Given the description of an element on the screen output the (x, y) to click on. 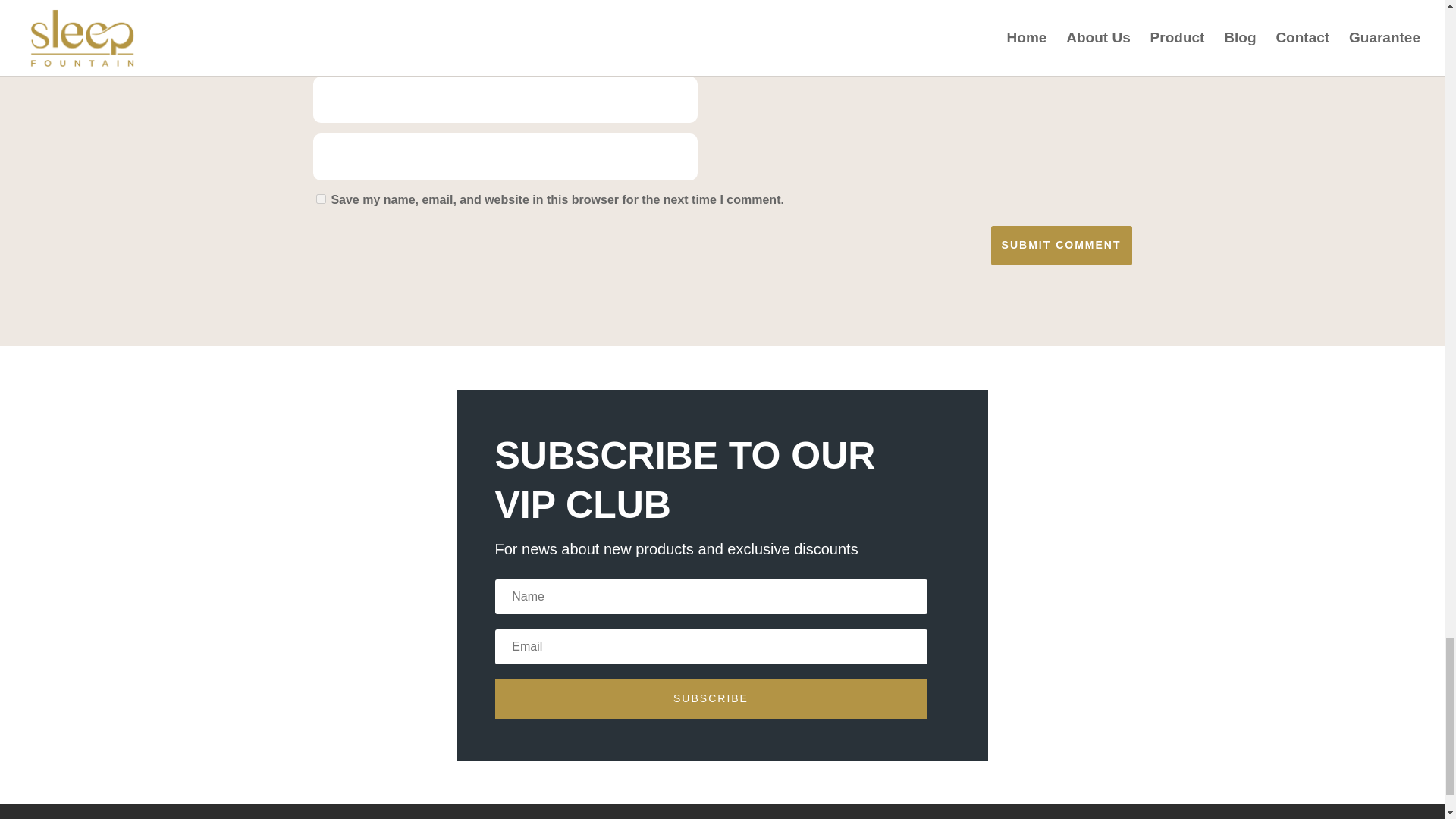
SUBMIT COMMENT (1061, 245)
yes (319, 198)
Privacy Policy (348, 818)
SUBSCRIBE (710, 699)
